Given the description of an element on the screen output the (x, y) to click on. 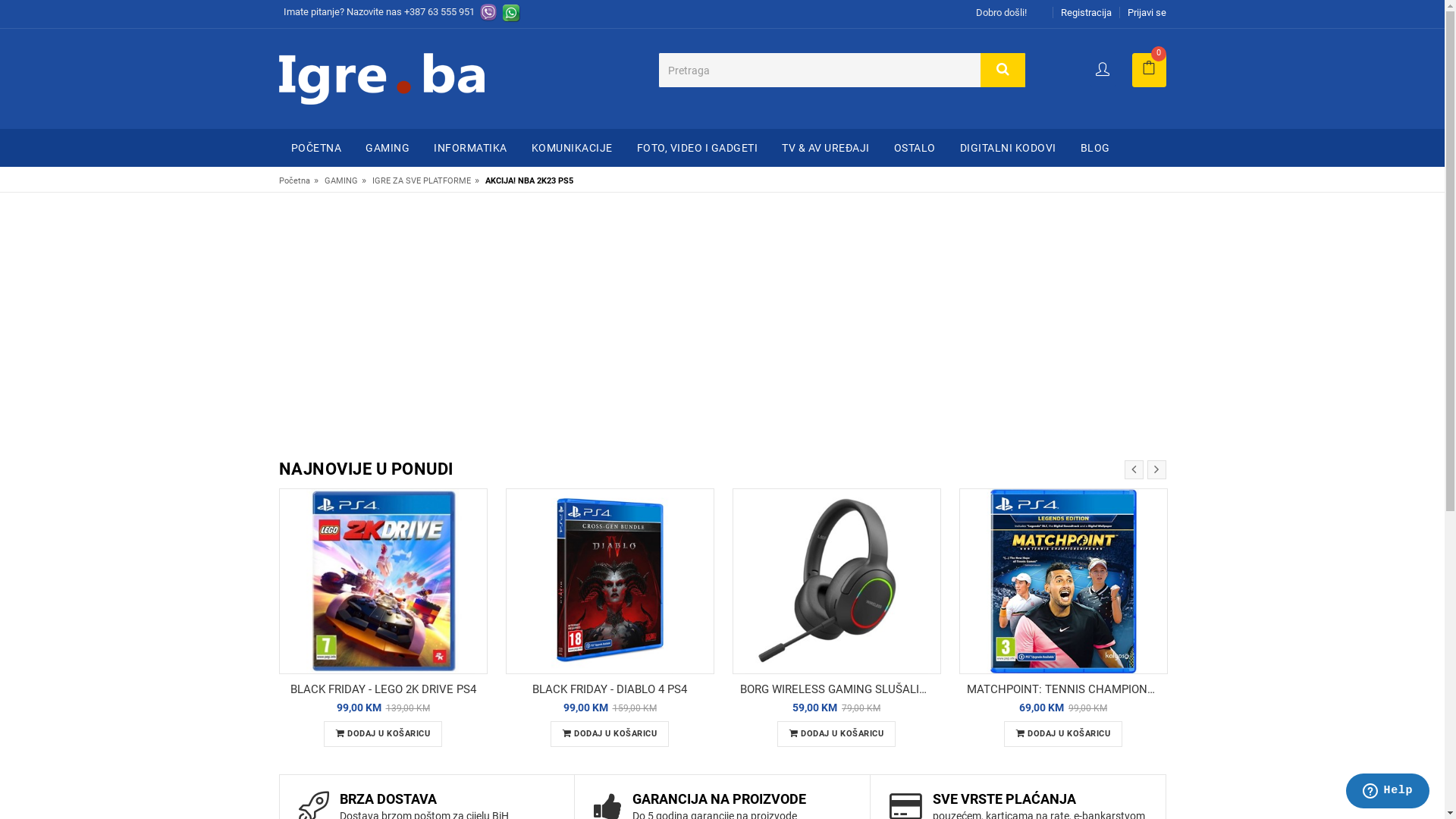
OSTALO Element type: text (914, 147)
BLACK FRIDAY - DIABLO 4 PS4 Element type: text (609, 688)
GAMING Element type: text (340, 180)
Registracija Element type: text (1085, 12)
Igre.BA Element type: hover (381, 77)
MATCHPOINT: TENNIS CHAMPIONSHIPS - LEGENDS EDITION PS4 Element type: text (1062, 688)
Prijavi se Element type: text (1145, 12)
BLACK FRIDAY - LEGO 2K DRIVE PS4 Element type: text (383, 688)
INFORMATIKA Element type: text (470, 147)
KOMUNIKACIJE Element type: text (571, 147)
GAMING Element type: text (387, 147)
IGRE ZA SVE PLATFORME Element type: text (420, 180)
Opens a widget where you can chat to one of our agents Element type: hover (1387, 792)
DIGITALNI KODOVI Element type: text (1007, 147)
BLOG Element type: text (1094, 147)
FOTO, VIDEO I GADGETI Element type: text (697, 147)
0 Element type: text (1148, 70)
